Given the description of an element on the screen output the (x, y) to click on. 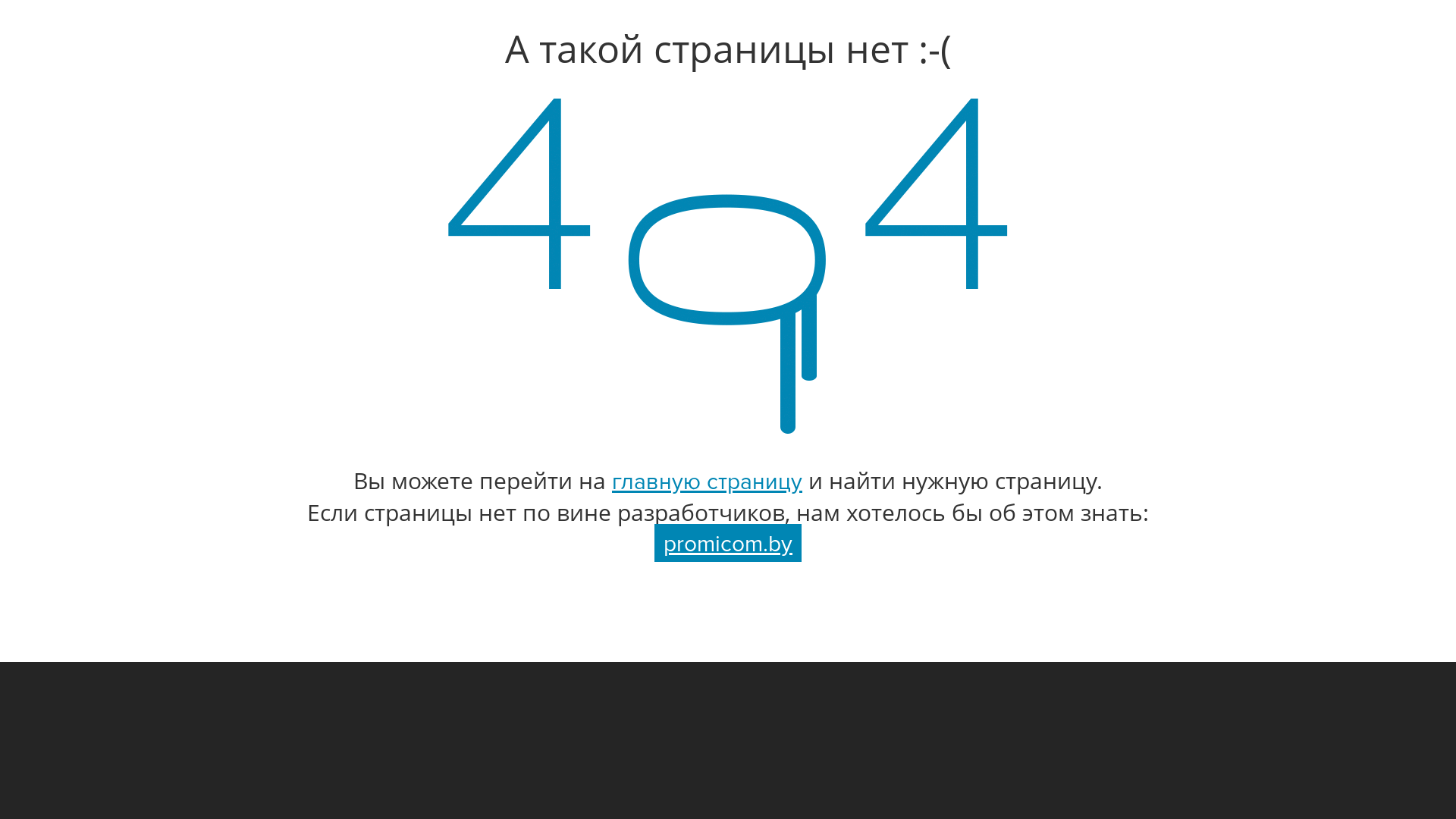
promicom.by Element type: text (727, 544)
